Given the description of an element on the screen output the (x, y) to click on. 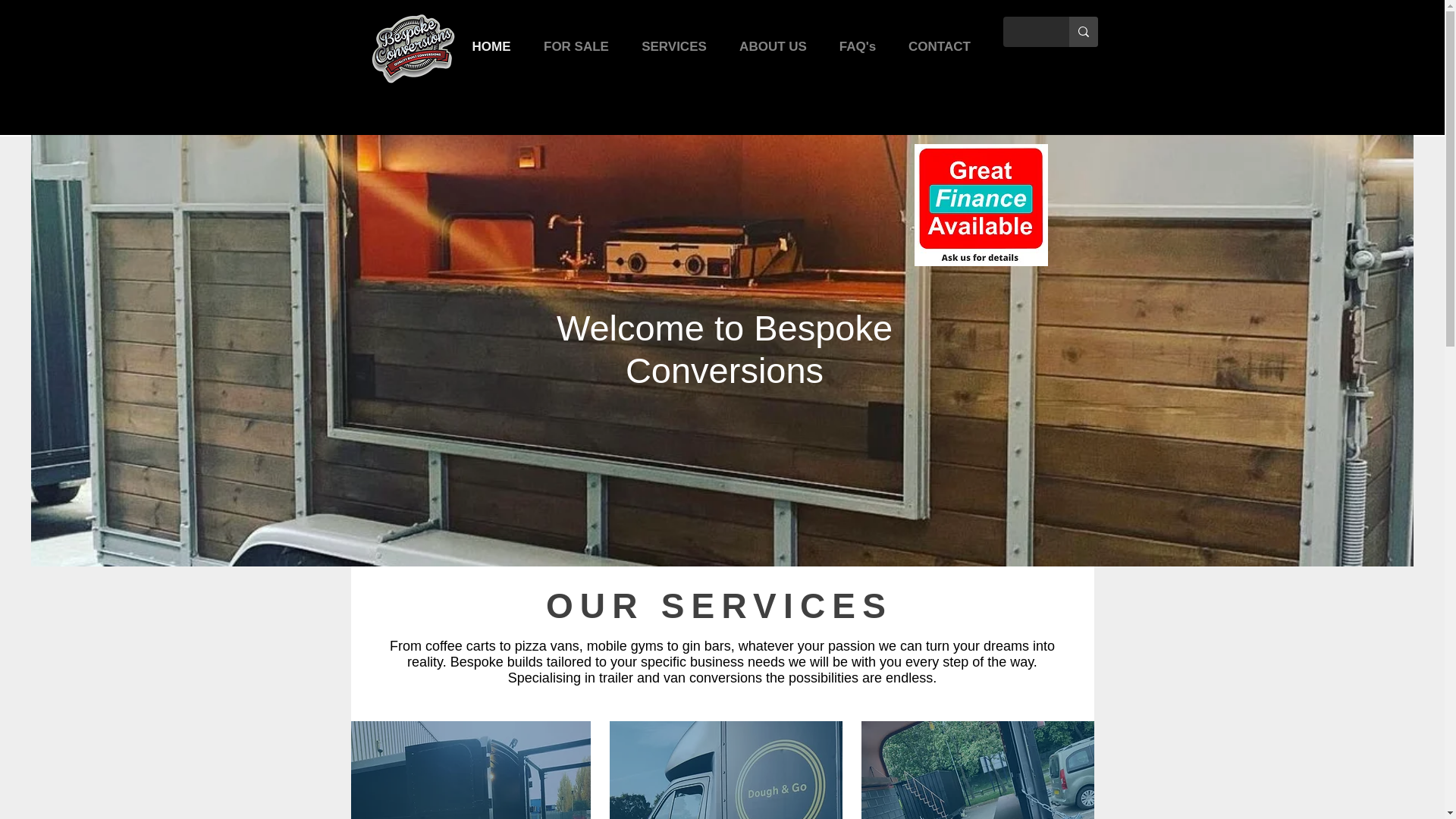
CONTACT (939, 46)
HOME (490, 46)
FAQ's (858, 46)
